Given the description of an element on the screen output the (x, y) to click on. 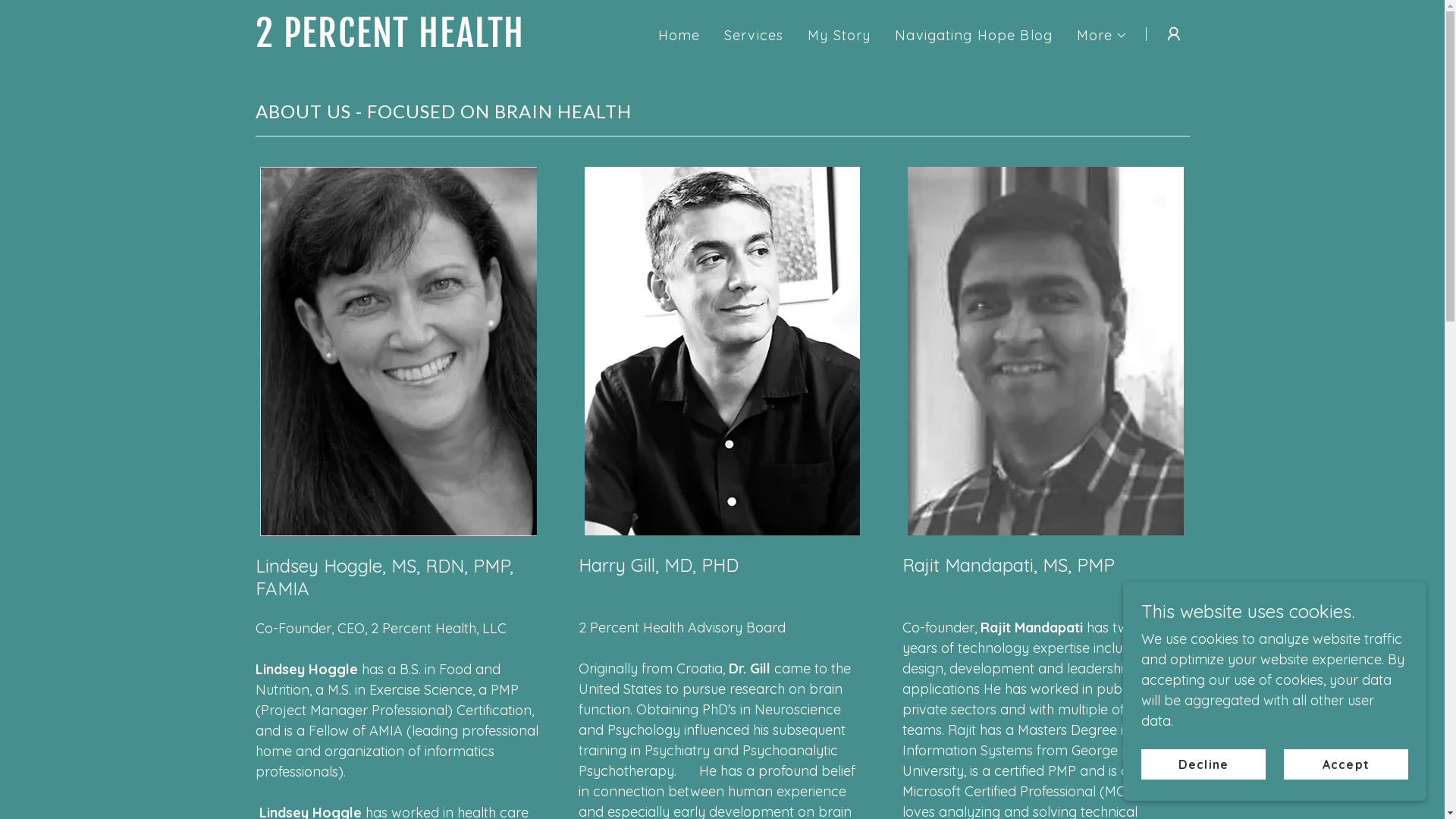
Accept Element type: text (1345, 764)
Navigating Hope Blog Element type: text (973, 35)
Services Element type: text (753, 35)
My Story Element type: text (839, 35)
More Element type: text (1102, 35)
Decline Element type: text (1203, 764)
Home Element type: text (679, 35)
2 PERCENT HEALTH Element type: text (417, 41)
